Given the description of an element on the screen output the (x, y) to click on. 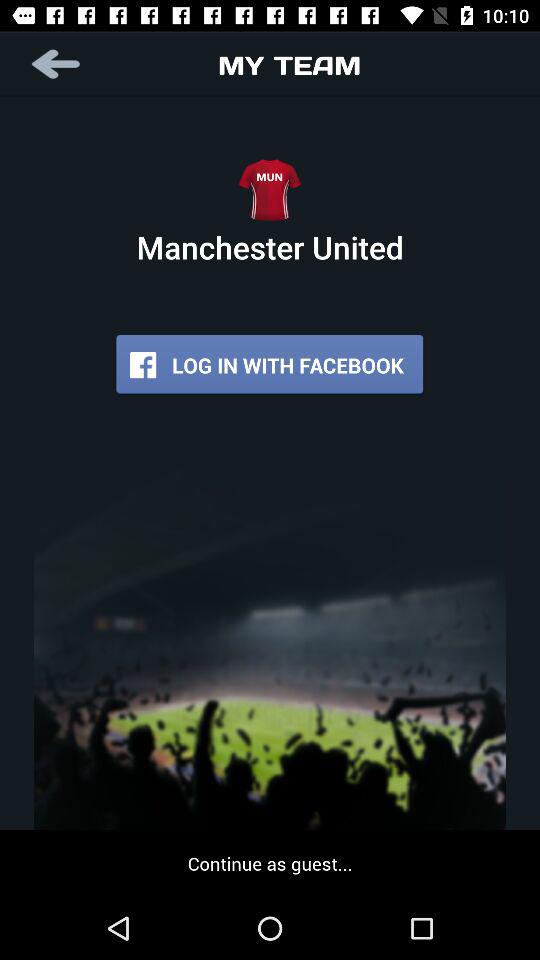
go back (57, 63)
